Given the description of an element on the screen output the (x, y) to click on. 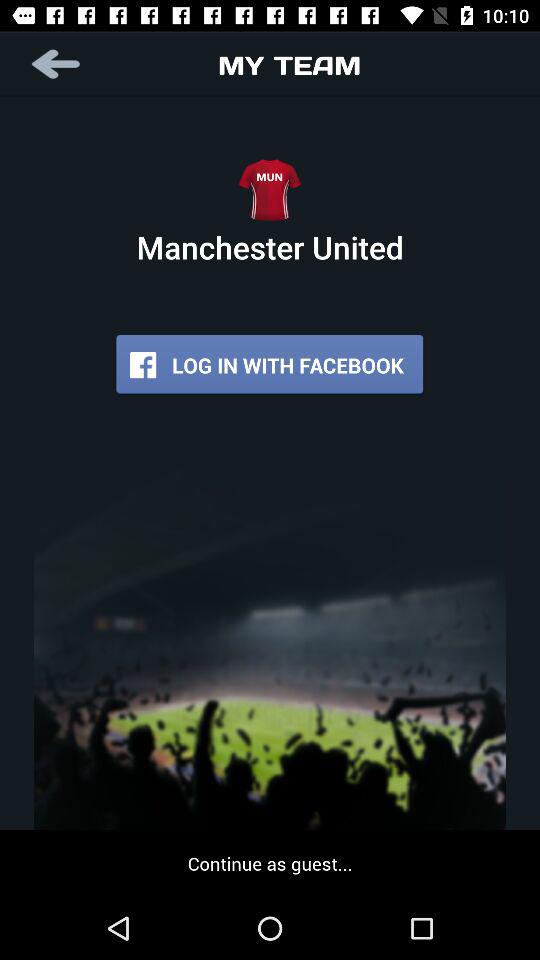
go back (57, 63)
